Given the description of an element on the screen output the (x, y) to click on. 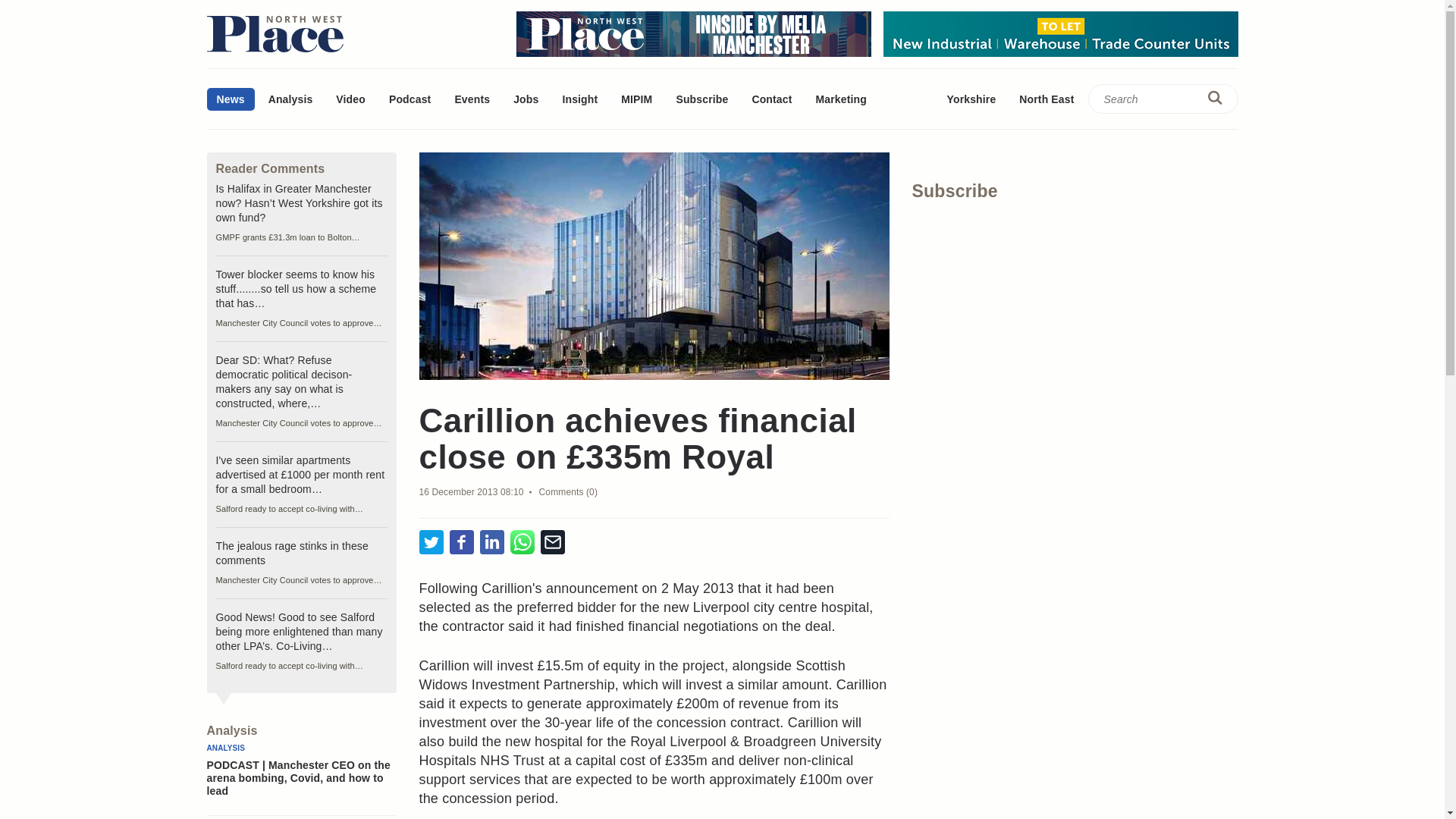
Jobs (525, 98)
Contact (771, 98)
Marketing (840, 98)
Events (471, 98)
North East (1046, 98)
Yorkshire (971, 98)
Share on LinkedIn (491, 542)
MIPIM (636, 98)
Subscribe (701, 98)
Share on Twiiter (430, 542)
